Given the description of an element on the screen output the (x, y) to click on. 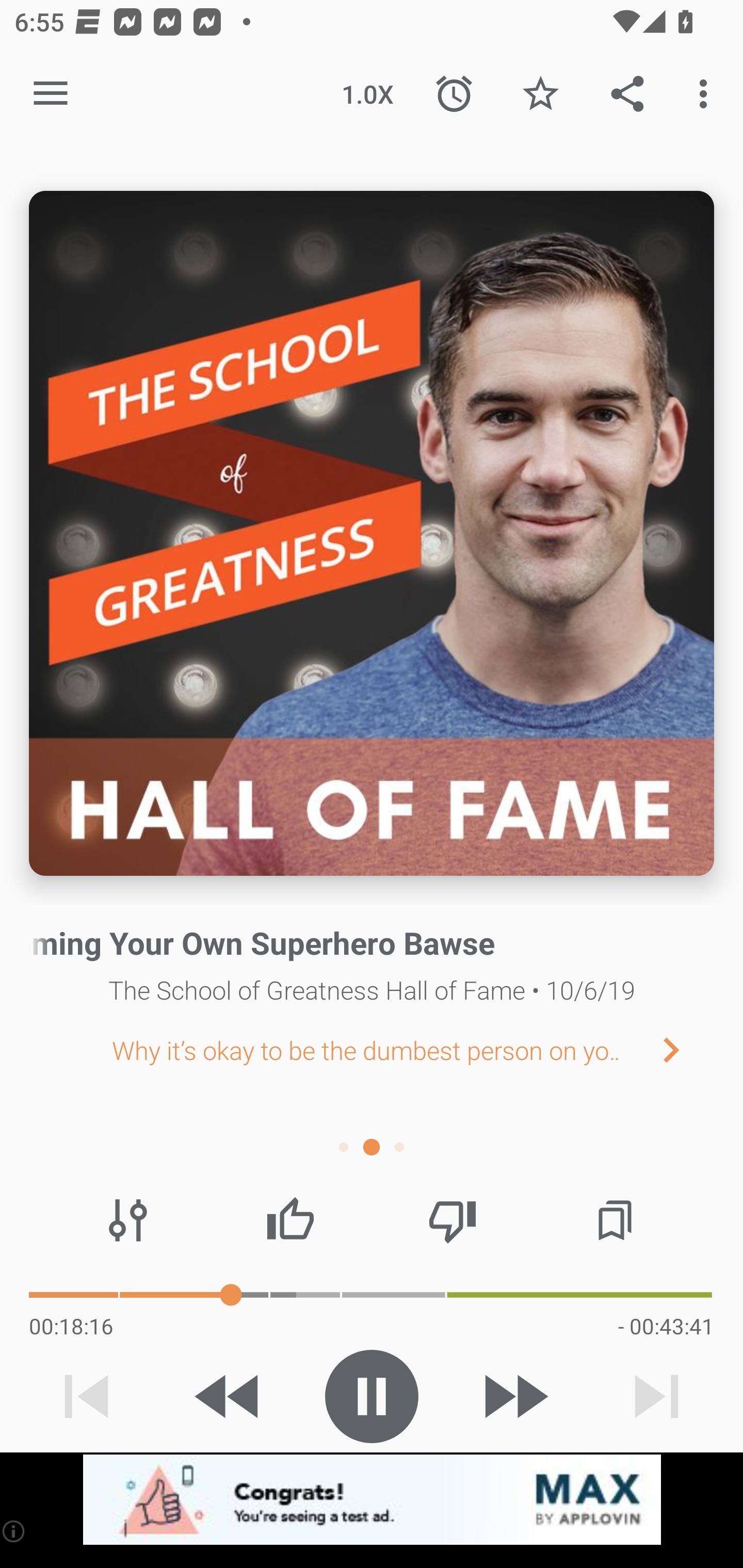
Open navigation sidebar (50, 93)
1.0X (366, 93)
Sleep Timer (453, 93)
Favorite (540, 93)
Share (626, 93)
More options (706, 93)
Episode description (371, 533)
Next Chapter (686, 1049)
Audio effects (127, 1220)
Thumbs up (290, 1220)
Thumbs down (452, 1220)
Chapters / Bookmarks (614, 1220)
- 00:43:41 (666, 1325)
Previous track (86, 1395)
Skip 15s backward (228, 1395)
Play / Pause (371, 1395)
Skip 30s forward (513, 1395)
Next track (656, 1395)
app-monetization (371, 1500)
(i) (14, 1531)
